Given the description of an element on the screen output the (x, y) to click on. 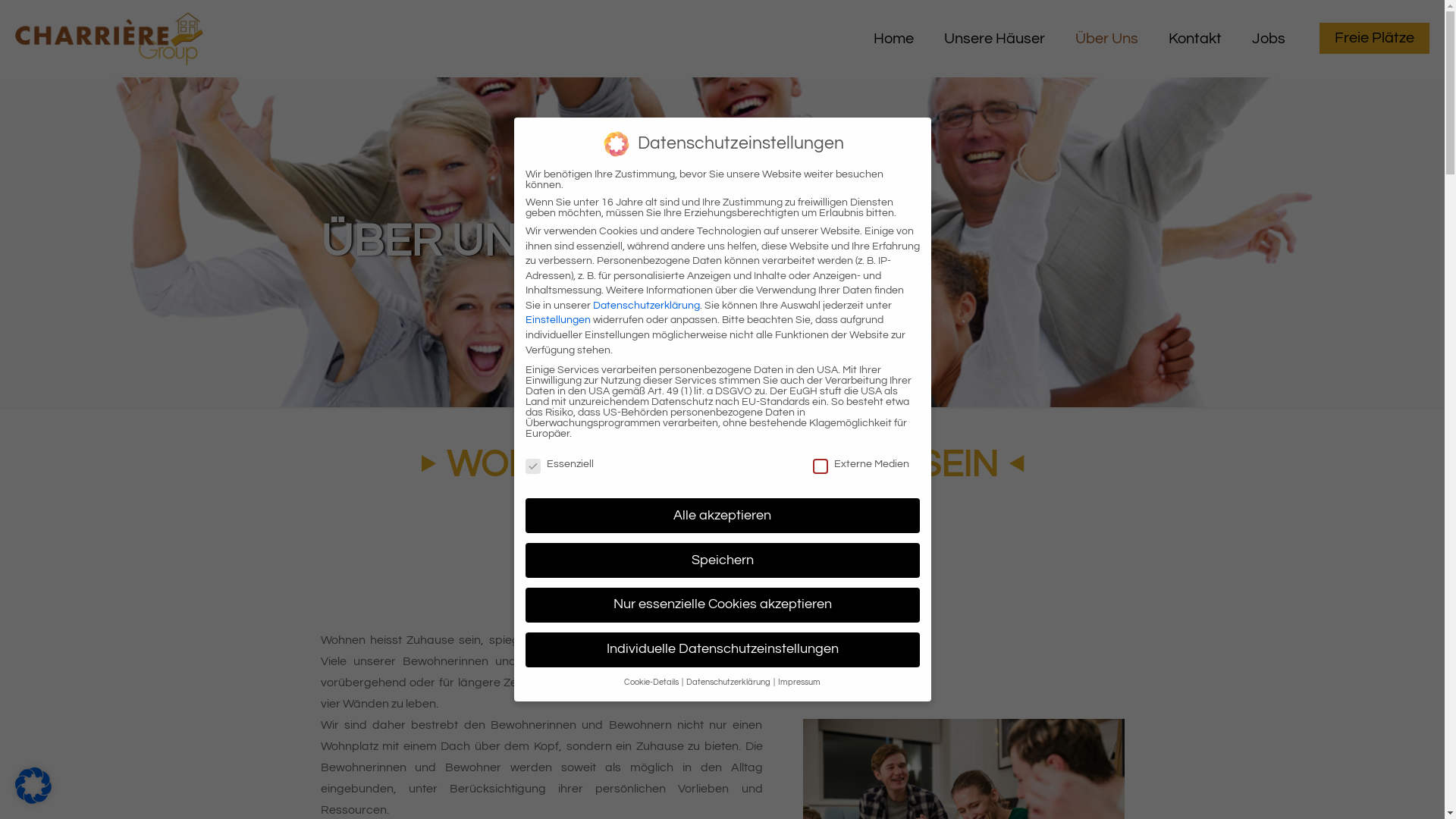
Einstellungen Element type: text (556, 319)
Alle akzeptieren Element type: text (721, 515)
Kontakt Element type: text (1194, 38)
Impressum Element type: text (799, 681)
Individuelle Datenschutzeinstellungen Element type: text (721, 649)
Speichern Element type: text (721, 559)
Jobs Element type: text (1268, 38)
Charriere Group Element type: hover (109, 38)
Home Element type: text (893, 38)
Nur essenzielle Cookies akzeptieren Element type: text (721, 604)
Cookie-Details Element type: text (652, 681)
